Given the description of an element on the screen output the (x, y) to click on. 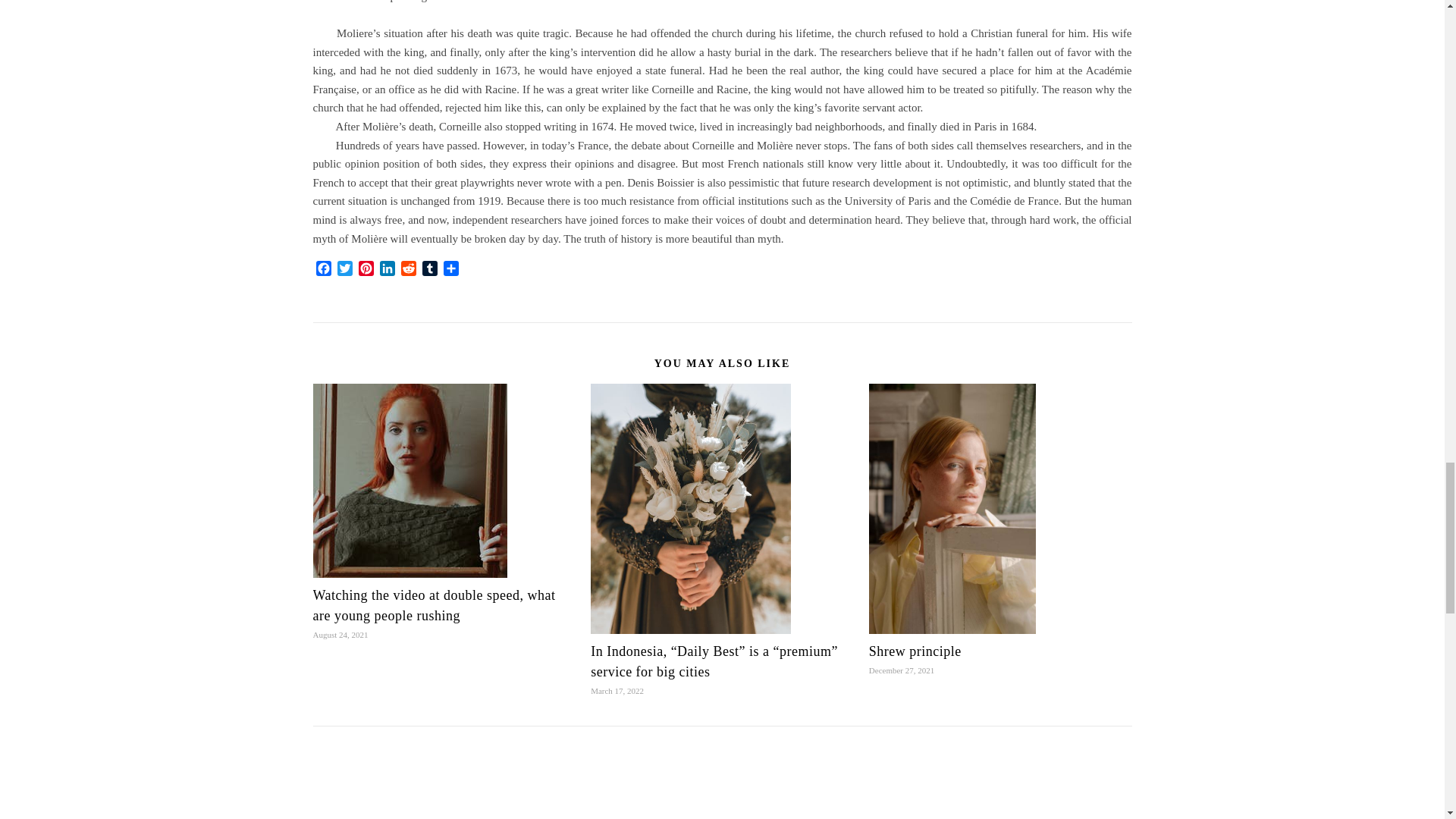
Facebook (323, 270)
Pinterest (365, 270)
Twitter (344, 270)
Tumblr (429, 270)
LinkedIn (386, 270)
LinkedIn (386, 270)
Twitter (344, 270)
Tumblr (429, 270)
Facebook (323, 270)
